Given the description of an element on the screen output the (x, y) to click on. 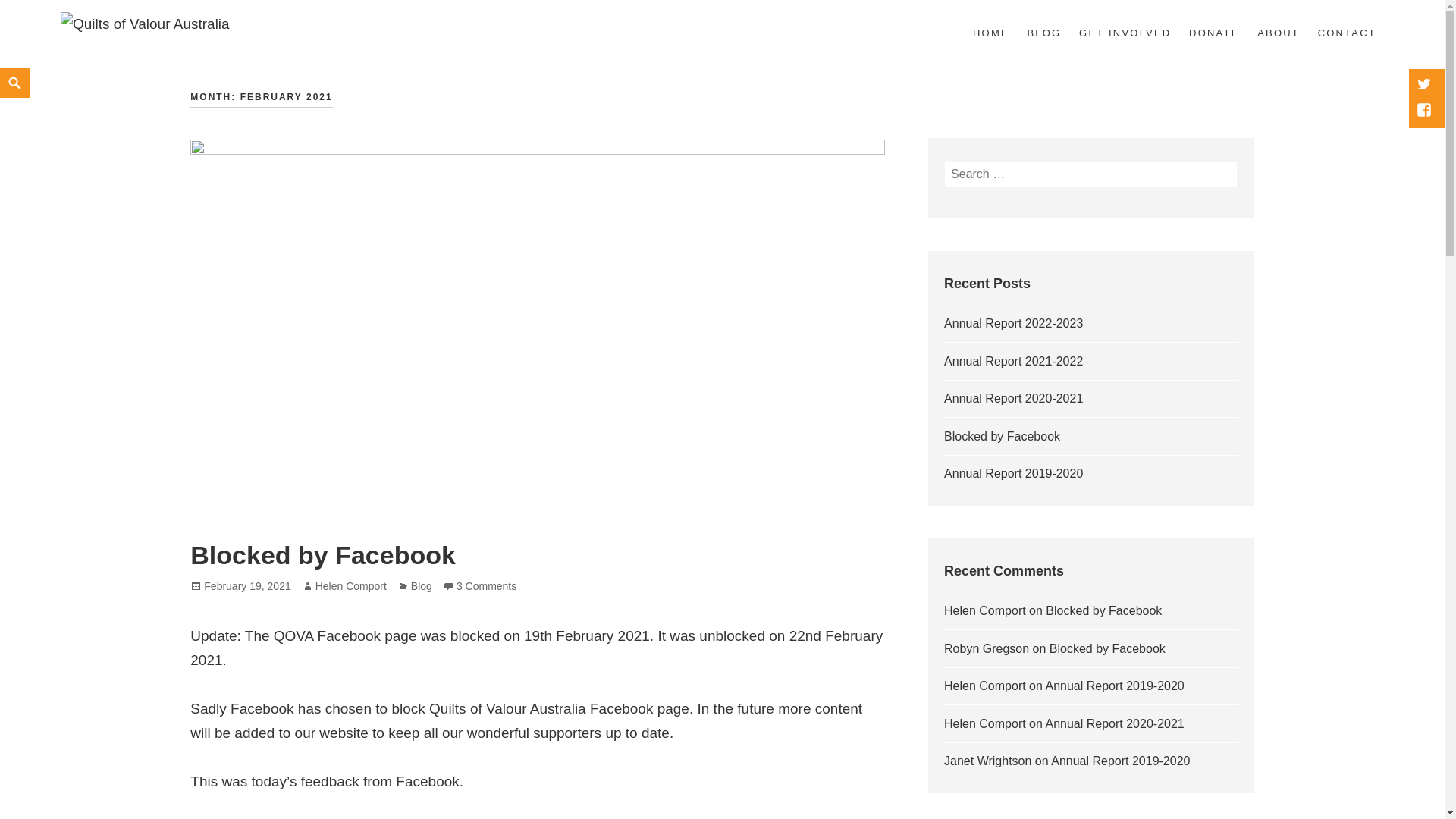
Annual Report 2022-2023 (1013, 323)
3 Comments (486, 585)
Blog (421, 585)
Annual Report 2021-2022 (1013, 360)
Annual Report 2019-2020 (1013, 472)
Blocked by Facebook (1107, 648)
Blocked by Facebook (322, 555)
Quilts of Valour (136, 48)
ABOUT (1278, 34)
